Given the description of an element on the screen output the (x, y) to click on. 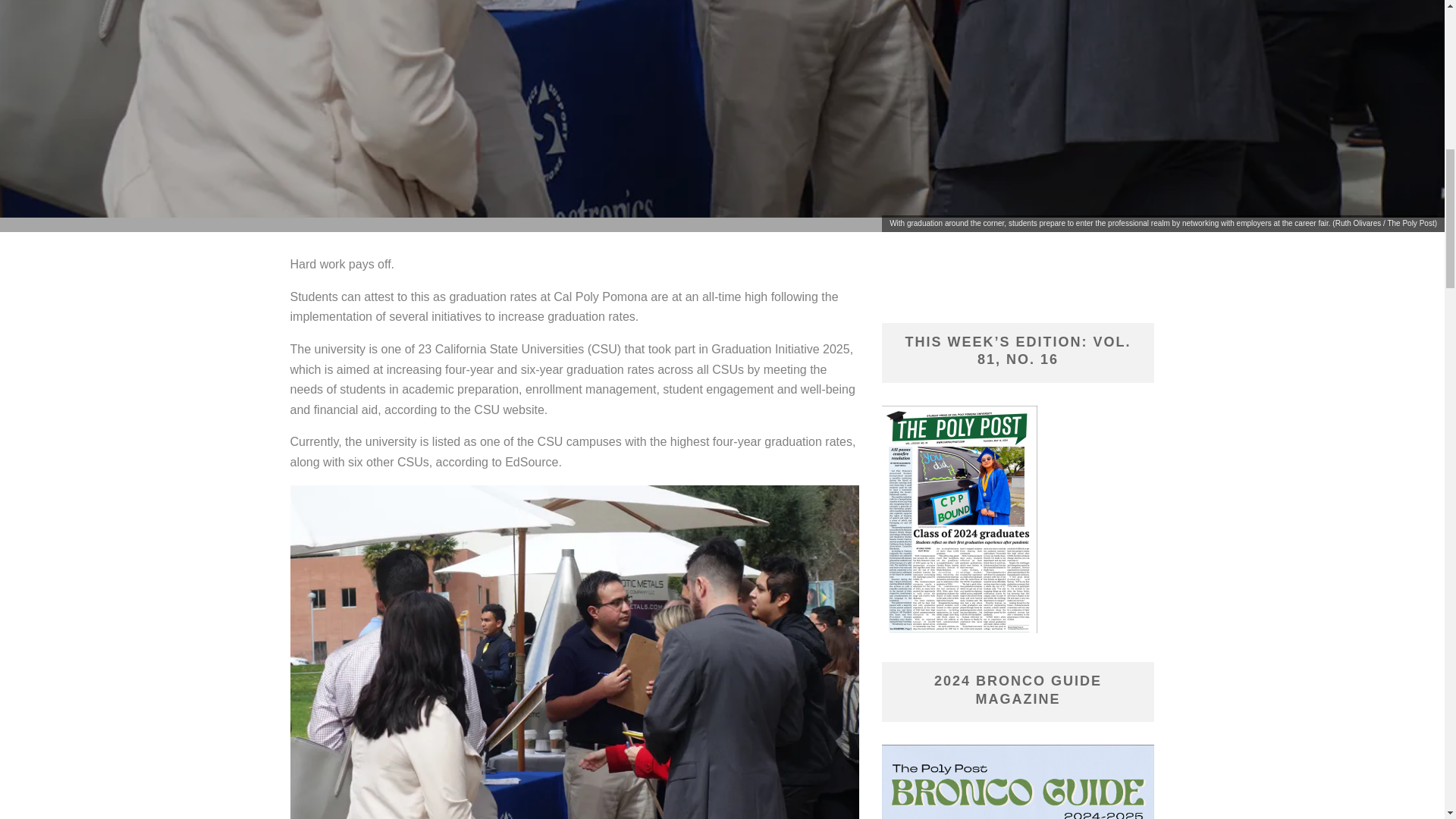
2022 Bronco Guide Magazine (1017, 781)
This Week's Edition: Vol. 78, No. 16 (958, 519)
